Given the description of an element on the screen output the (x, y) to click on. 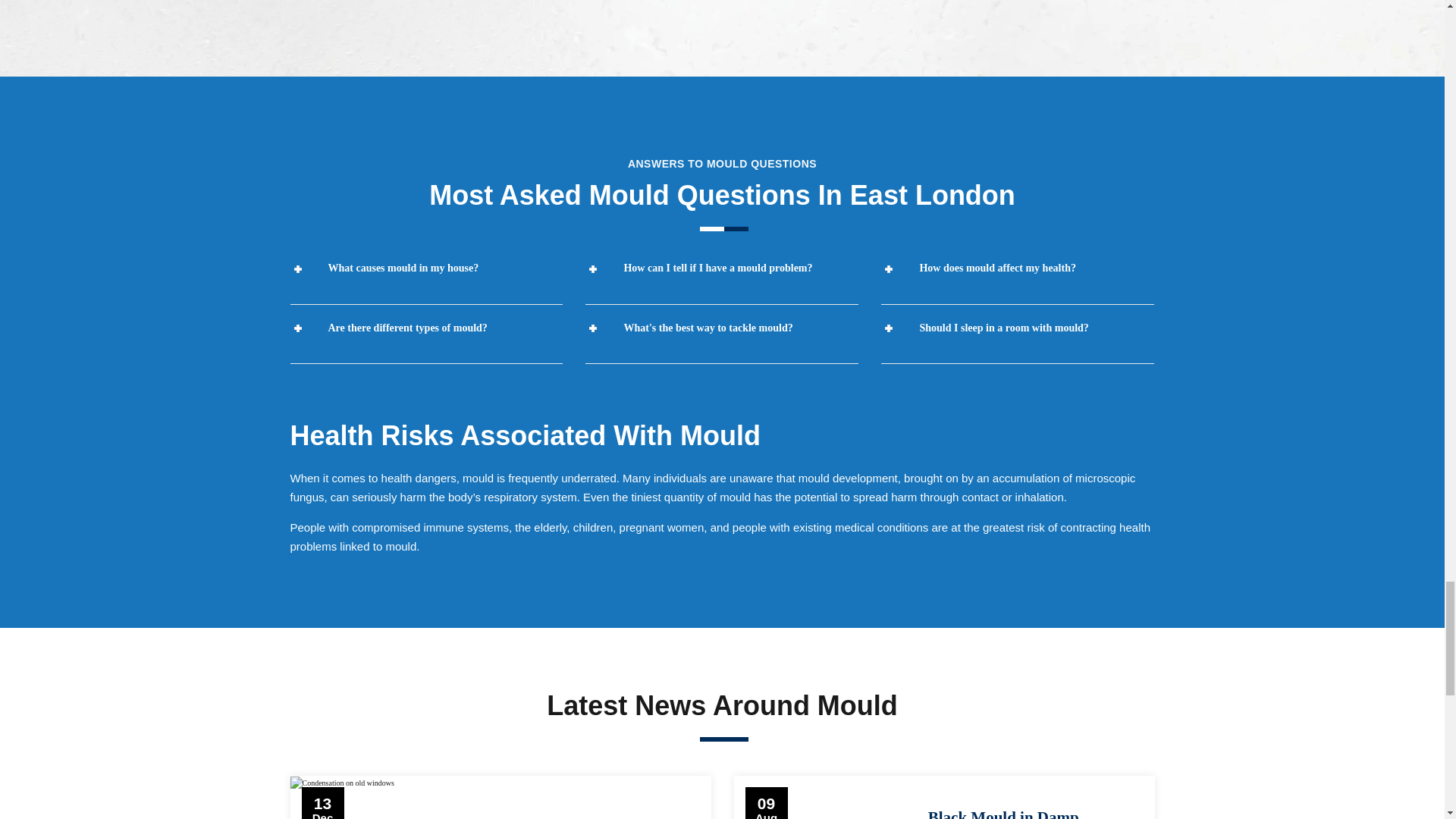
Black Mould in Damp Council House (1003, 813)
